Given the description of an element on the screen output the (x, y) to click on. 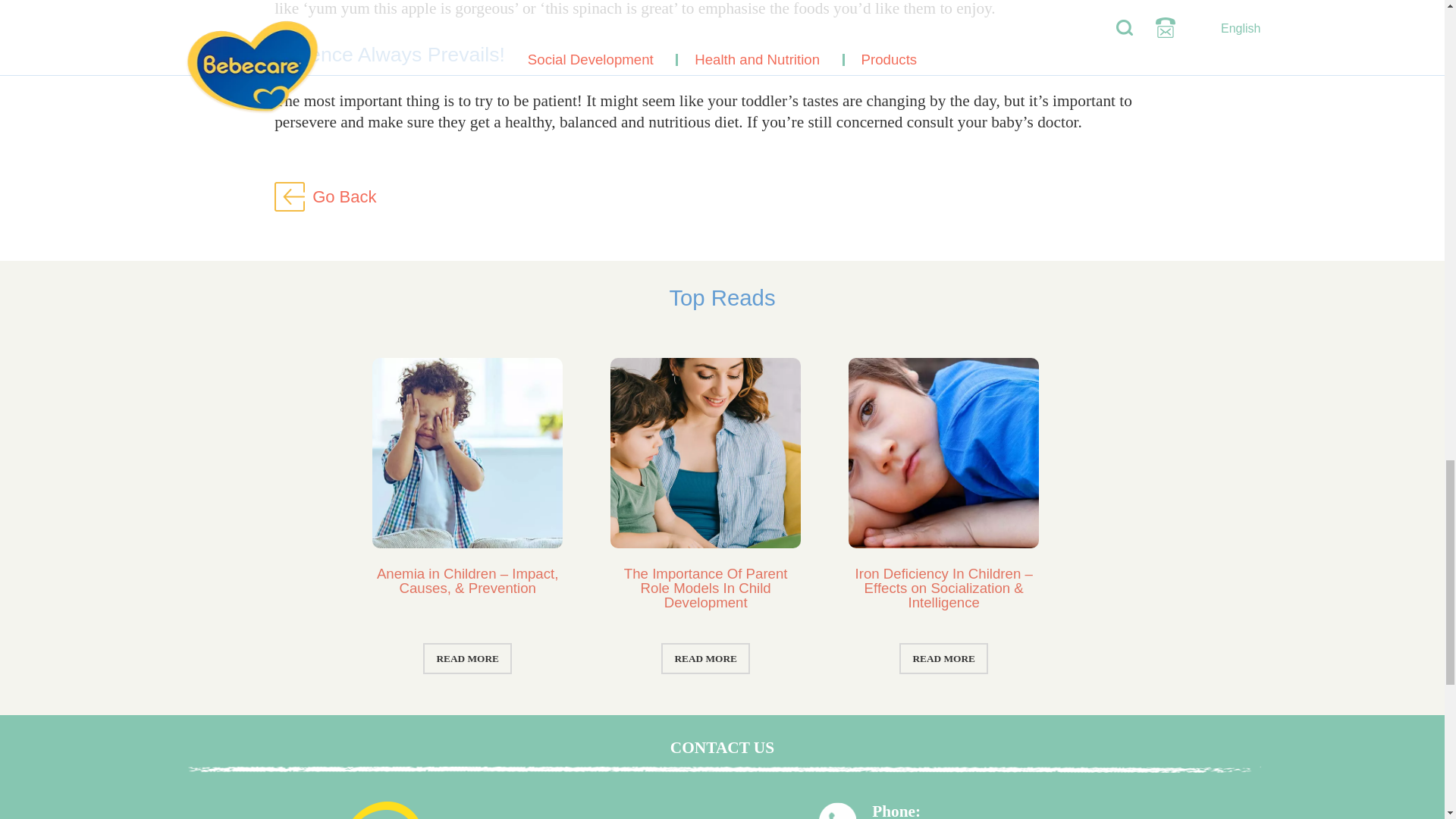
Go Back (344, 197)
READ MORE (705, 658)
READ MORE (943, 658)
The Importance Of Parent Role Models In Child Development (705, 587)
READ MORE (467, 658)
